Given the description of an element on the screen output the (x, y) to click on. 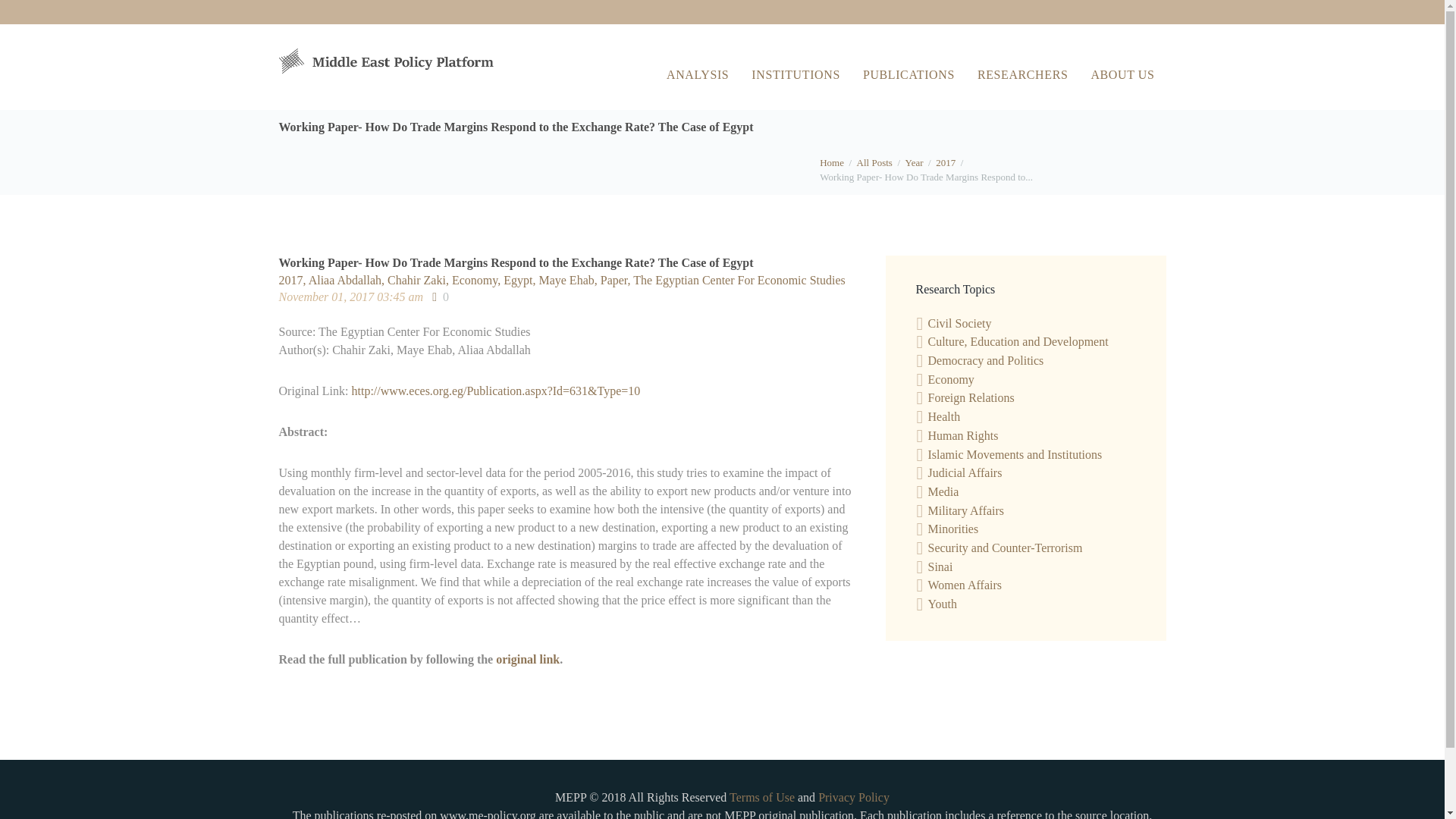
Like (440, 297)
Democracy and Politics (985, 359)
PUBLICATIONS (909, 74)
original link (527, 658)
ABOUT US (1122, 74)
Year (914, 161)
Sinai (940, 566)
0 (440, 297)
RESEARCHERS (1022, 74)
Human Rights (963, 435)
